Given the description of an element on the screen output the (x, y) to click on. 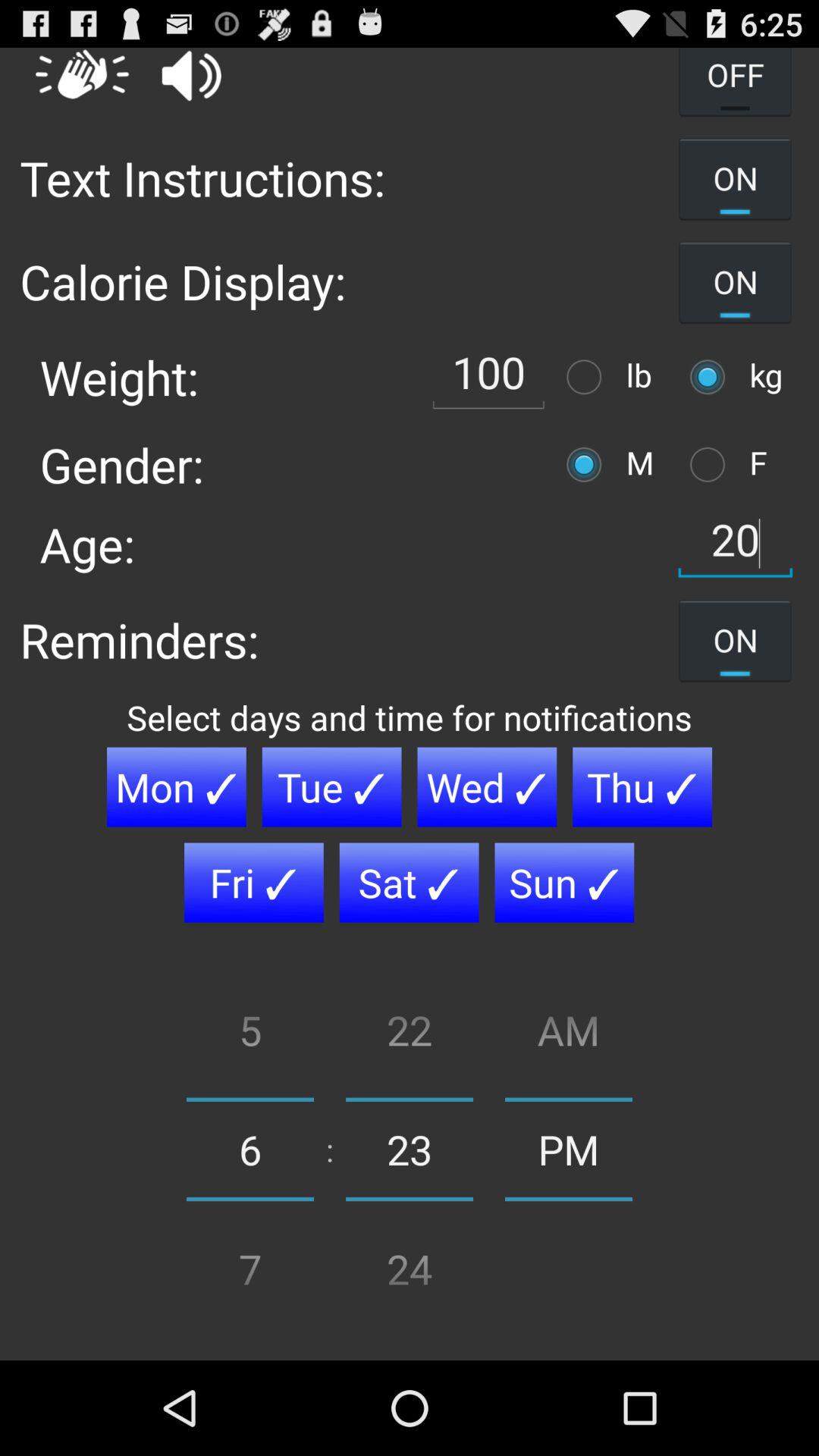
indicate button (587, 464)
